Given the description of an element on the screen output the (x, y) to click on. 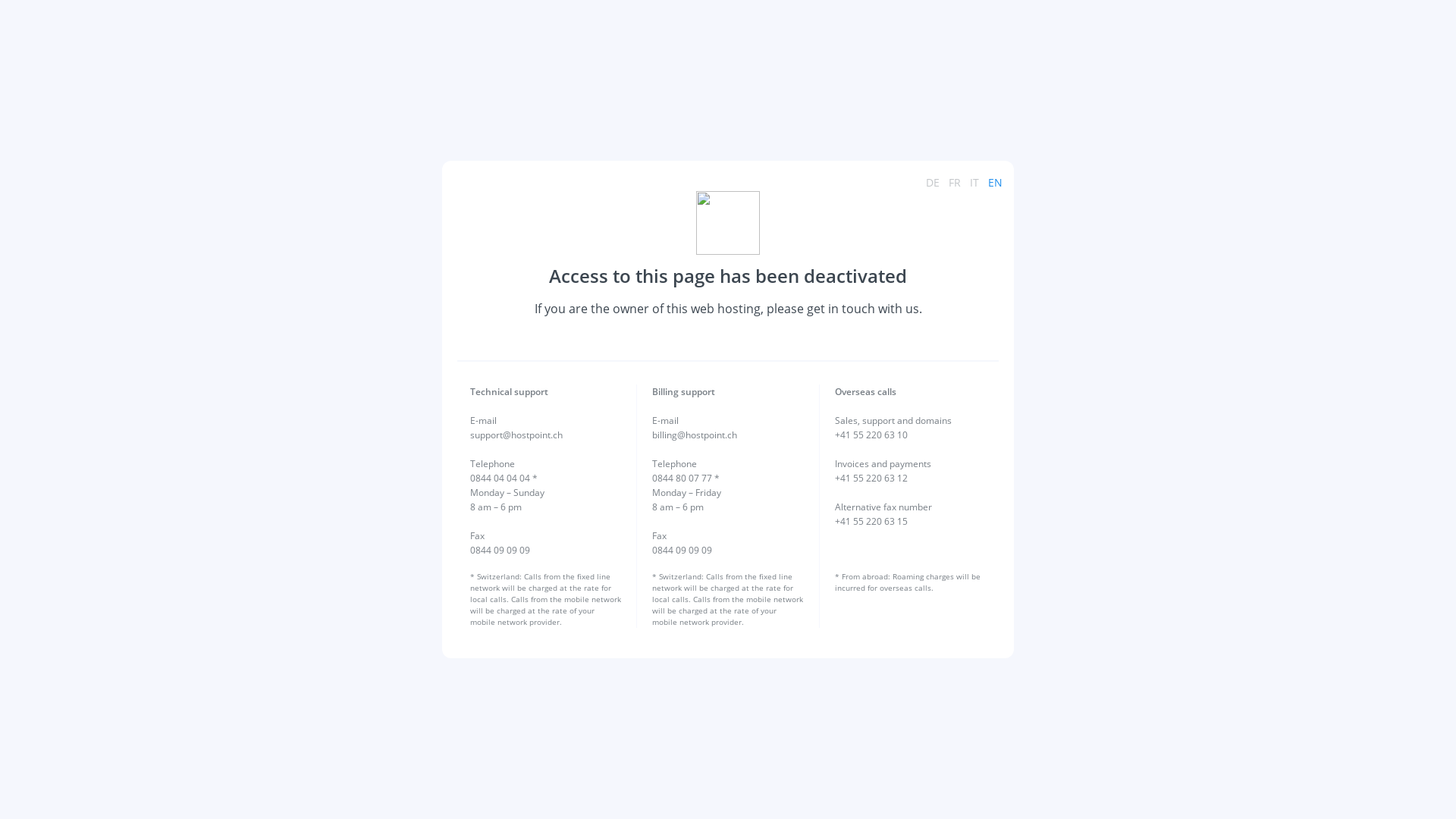
billing@hostpoint.ch Element type: text (694, 434)
support@hostpoint.ch Element type: text (516, 434)
